Given the description of an element on the screen output the (x, y) to click on. 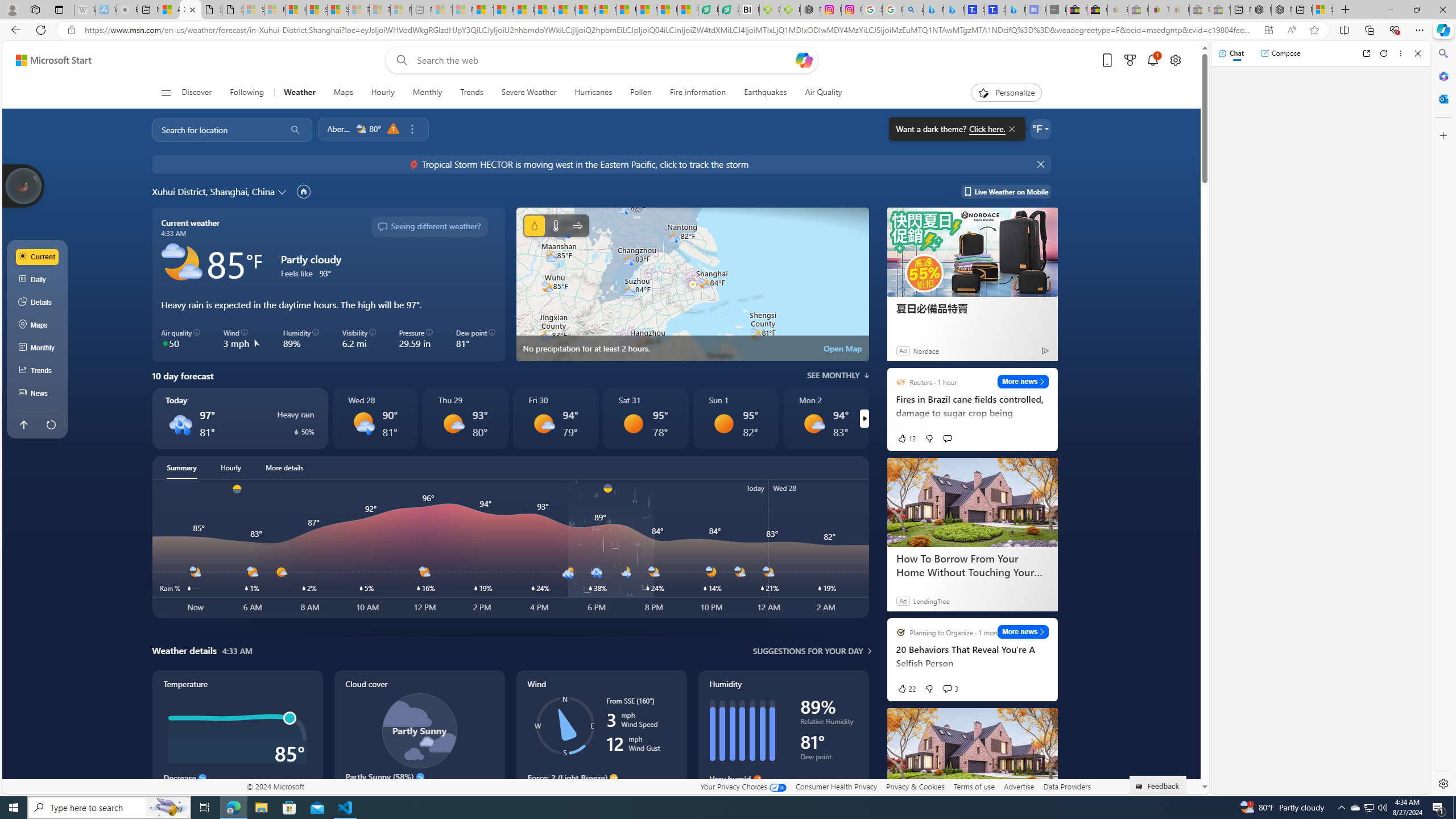
Microsoft Services Agreement - Sleeping (274, 9)
Mostly sunny (813, 422)
Summary (181, 467)
Daily (37, 279)
Open Map (842, 348)
Dew point (828, 759)
Enter your search term (603, 59)
Join us in planting real trees to help our planet! (23, 184)
alabama high school quarterback dies - Search (913, 9)
